Given the description of an element on the screen output the (x, y) to click on. 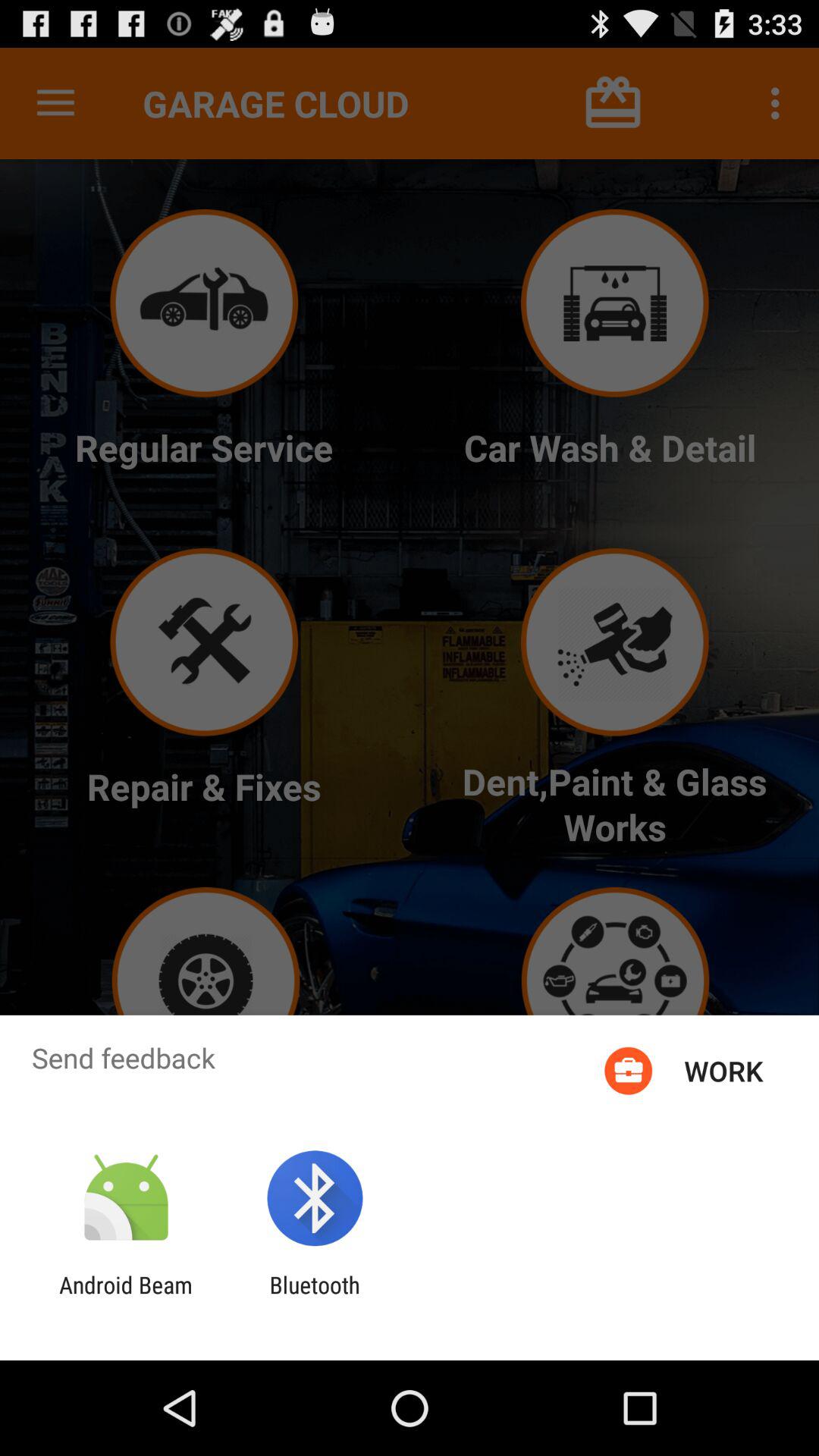
click the icon next to the android beam icon (314, 1298)
